Given the description of an element on the screen output the (x, y) to click on. 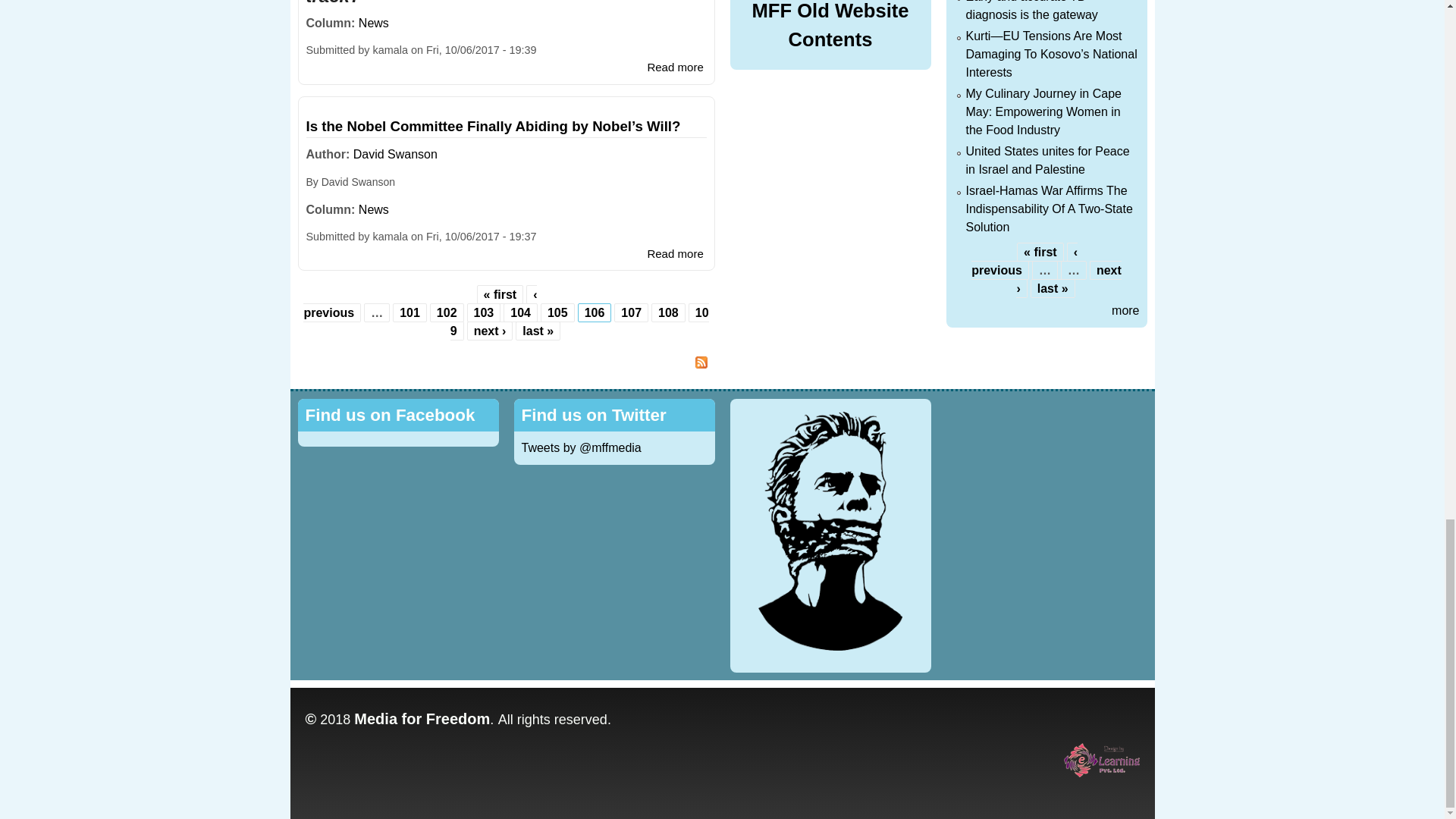
105 (557, 312)
104 (521, 312)
Go to first page (499, 294)
Go to page 101 (409, 312)
Go to page 109 (579, 321)
108 (668, 312)
101 (409, 312)
Go to page 102 (446, 312)
Go to previous page (419, 303)
103 (484, 312)
